Given the description of an element on the screen output the (x, y) to click on. 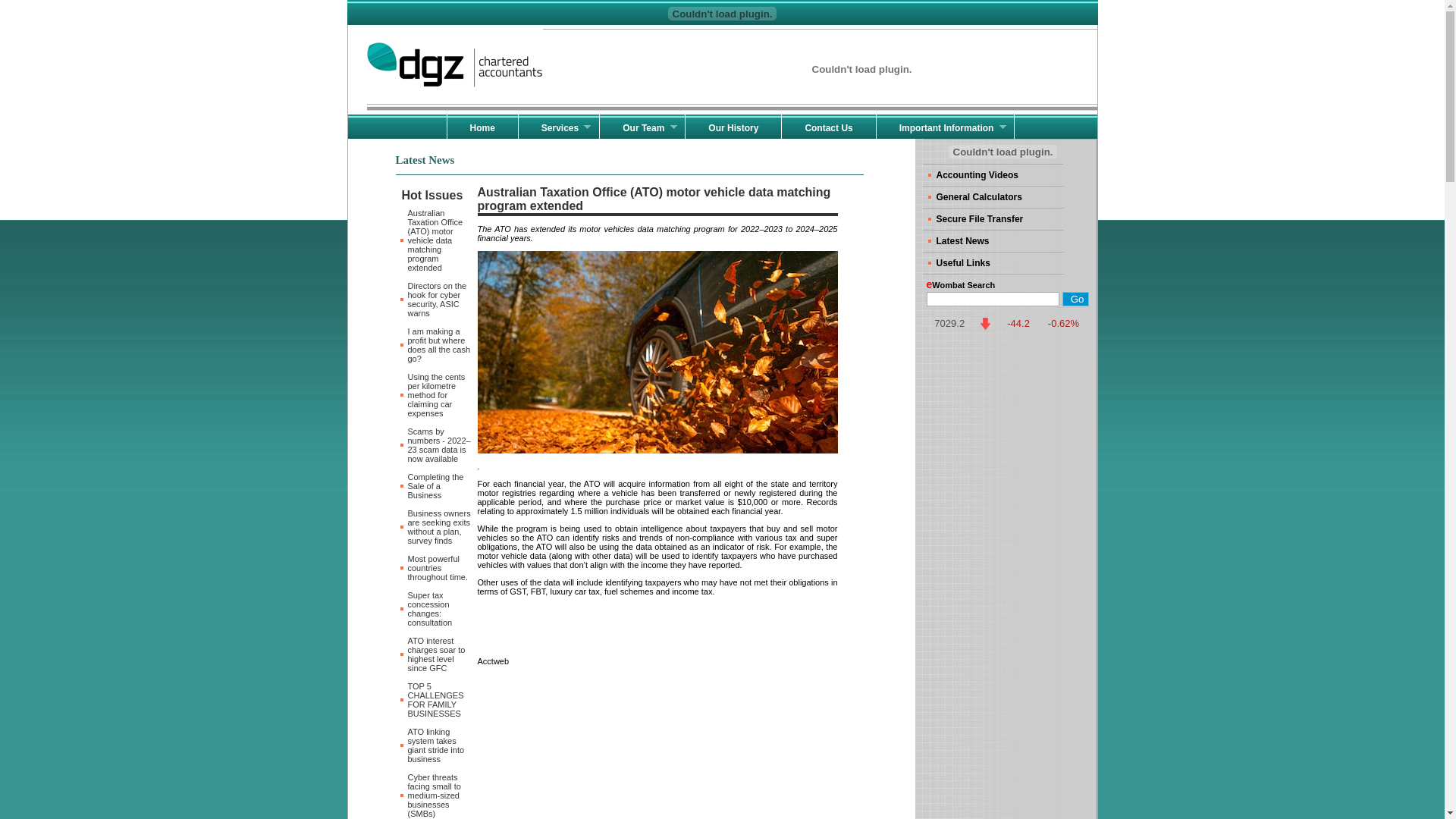
Directors on the hook for cyber security, ASIC warns Element type: text (437, 299)
Completing the Sale of a Business Element type: text (435, 485)
TOP 5 CHALLENGES FOR FAMILY BUSINESSES Element type: text (435, 699)
Contact Us Element type: text (828, 126)
Secure File Transfer Element type: text (993, 218)
Latest News Element type: text (993, 240)
Our History Element type: text (733, 126)
ATO linking system takes giant stride into business Element type: text (435, 745)
Accounting Videos Element type: text (993, 174)
Most powerful countries throughout time. Element type: text (437, 567)
I am making a profit but where does all the cash go? Element type: text (438, 344)
Home Element type: text (482, 126)
General Calculators Element type: text (993, 196)
Cyber threats facing small to medium-sized businesses (SMBs) Element type: text (434, 795)
Useful Links Element type: text (993, 262)
Super tax concession changes: consultation Element type: text (429, 608)
ATO interest charges soar to highest level since GFC Element type: text (436, 654)
 Go Element type: text (1075, 298)
